Given the description of an element on the screen output the (x, y) to click on. 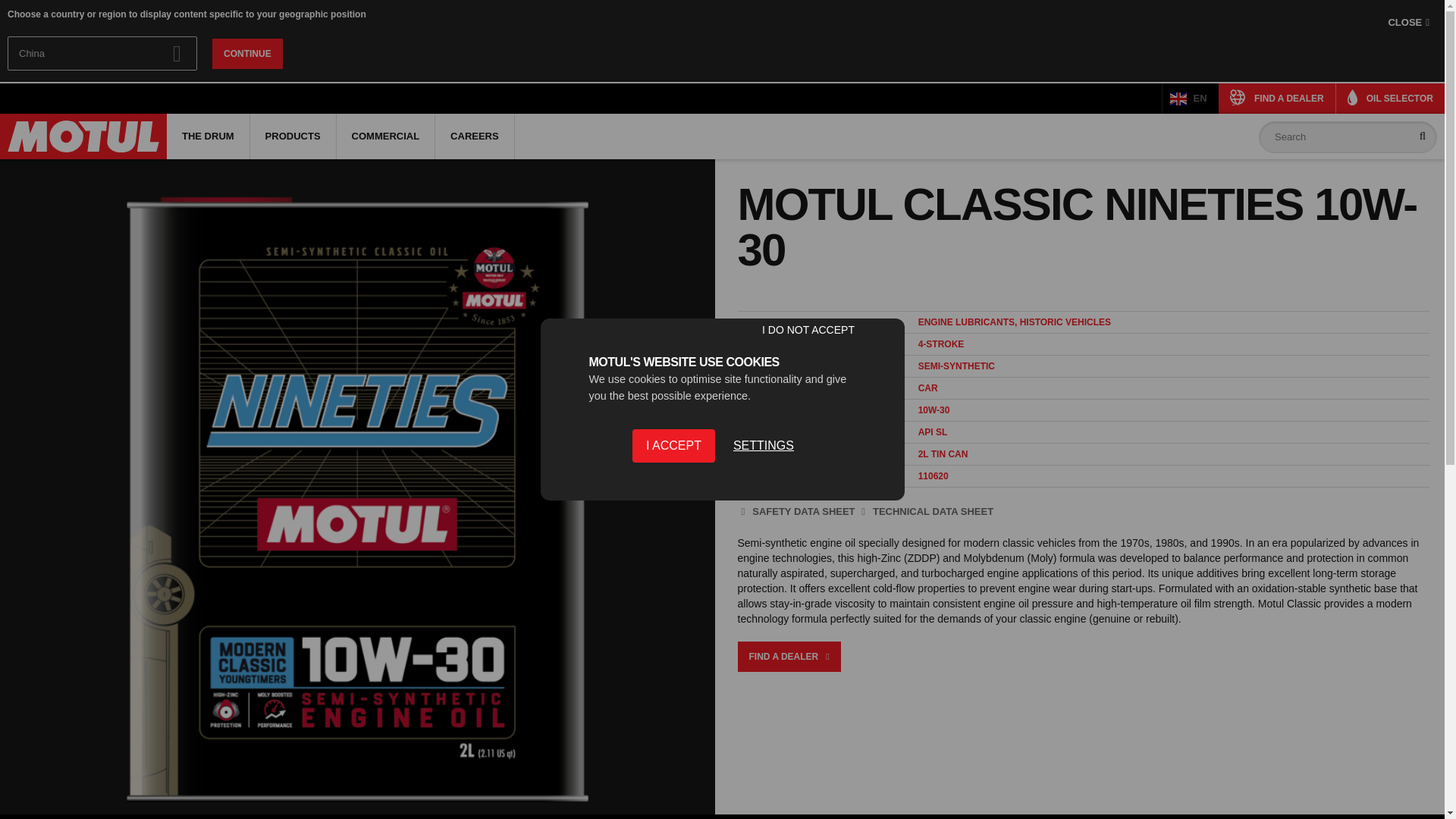
FIND A DEALER (1277, 98)
CONTINUE (247, 52)
THE DRUM (207, 135)
EN (1189, 98)
CLOSE (1408, 22)
PRODUCTS (293, 135)
